Given the description of an element on the screen output the (x, y) to click on. 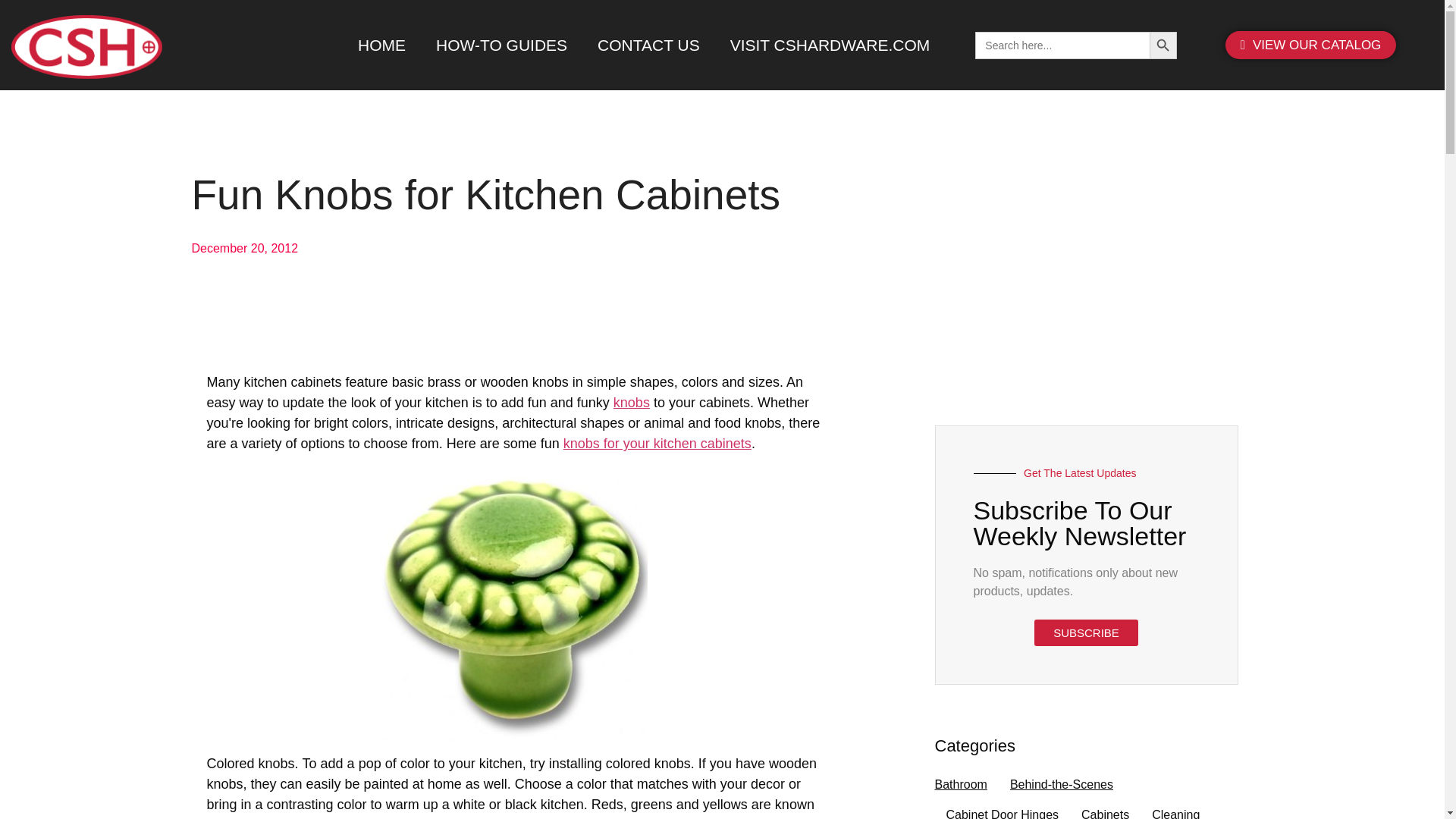
Cleaning (1175, 809)
HOME (381, 45)
Behind-the-Scenes (1061, 784)
CONTACT US (648, 45)
colored cabinet knob (513, 604)
HOW-TO GUIDES (501, 45)
knobs for your kitchen cabinets (657, 443)
Cabinets (1105, 809)
Cabinet Door Hinges (1002, 809)
VIEW OUR CATALOG (1310, 44)
knobs (632, 402)
VISIT CSHARDWARE.COM (829, 45)
Bathroom (960, 784)
December 20, 2012 (244, 248)
Search Button (1163, 44)
